Given the description of an element on the screen output the (x, y) to click on. 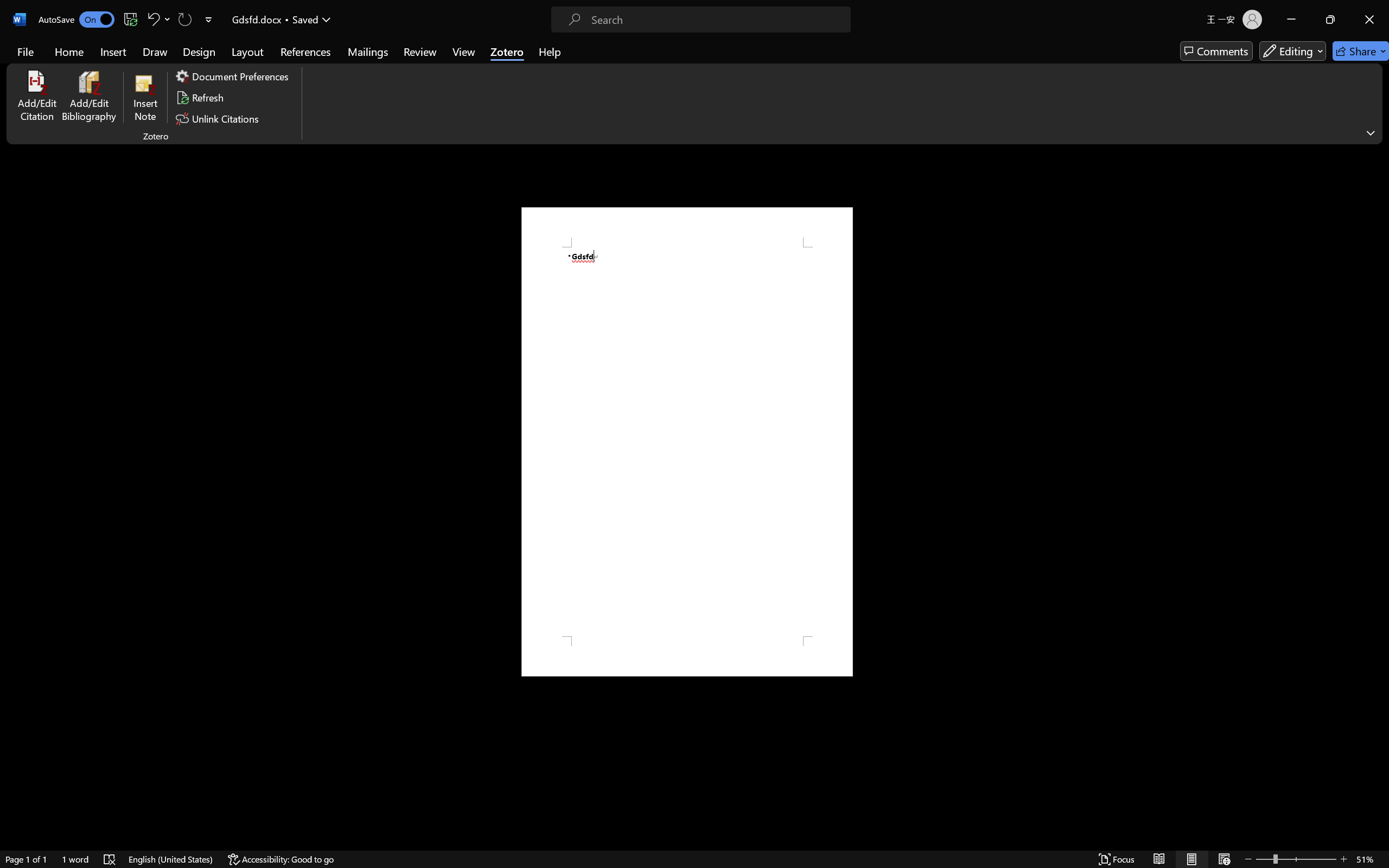
Spin (817, 60)
Shape (373, 60)
Preview (16, 62)
Color Pulse (729, 60)
Grow/Shrink (862, 60)
Preview (16, 51)
Animation Painter (1141, 77)
Animation Delay (1237, 76)
Row Down (1022, 59)
